Given the description of an element on the screen output the (x, y) to click on. 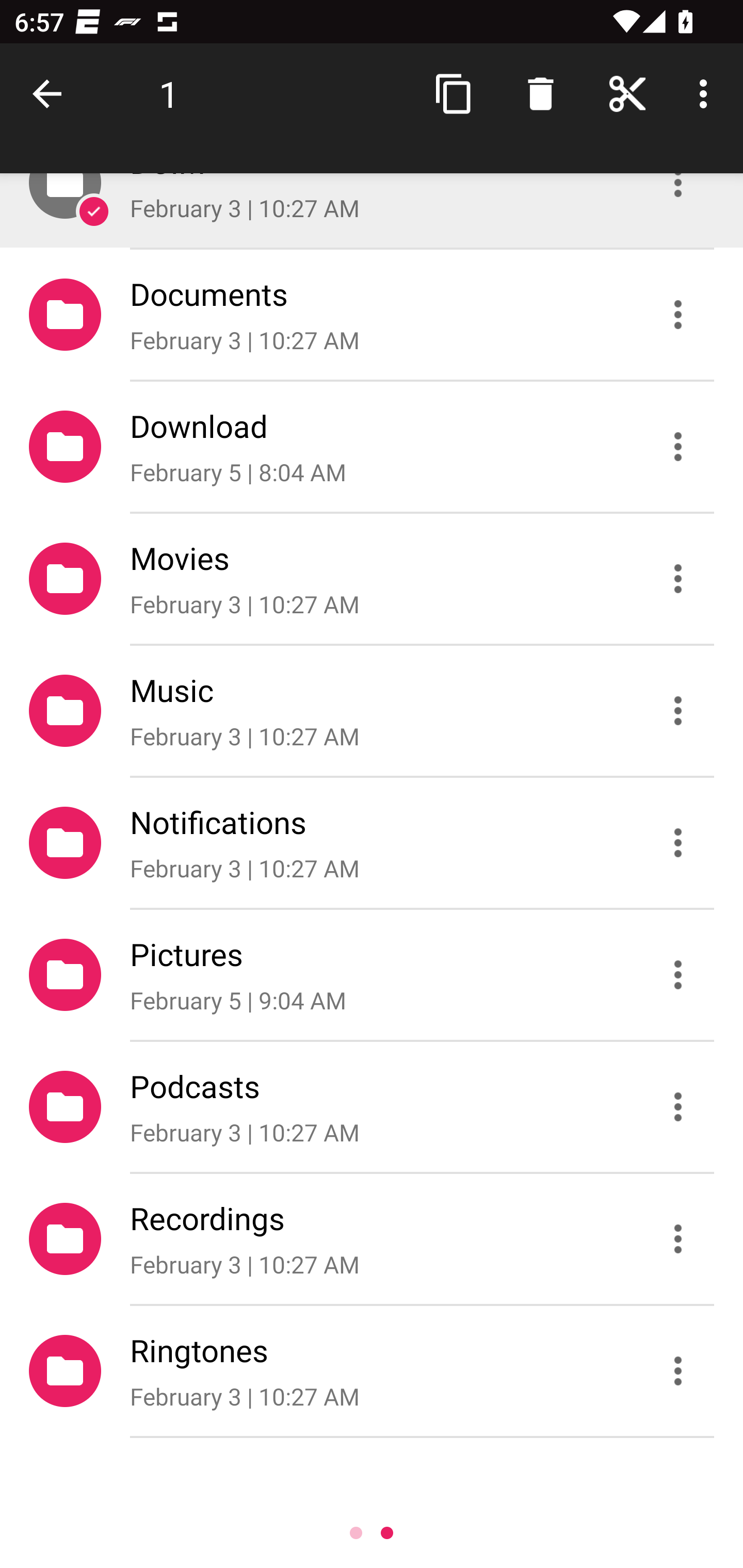
1 (169, 93)
Done (50, 93)
Copy (453, 93)
Delete (540, 93)
Cut (626, 93)
More options (706, 93)
DCIM February 3 | 10:27 AM (371, 210)
Documents February 3 | 10:27 AM (371, 314)
Download February 5 | 8:04 AM (371, 446)
Movies February 3 | 10:27 AM (371, 579)
Music February 3 | 10:27 AM (371, 711)
Notifications February 3 | 10:27 AM (371, 842)
Pictures February 5 | 9:04 AM (371, 974)
Podcasts February 3 | 10:27 AM (371, 1106)
Recordings February 3 | 10:27 AM (371, 1239)
Ringtones February 3 | 10:27 AM (371, 1371)
